Given the description of an element on the screen output the (x, y) to click on. 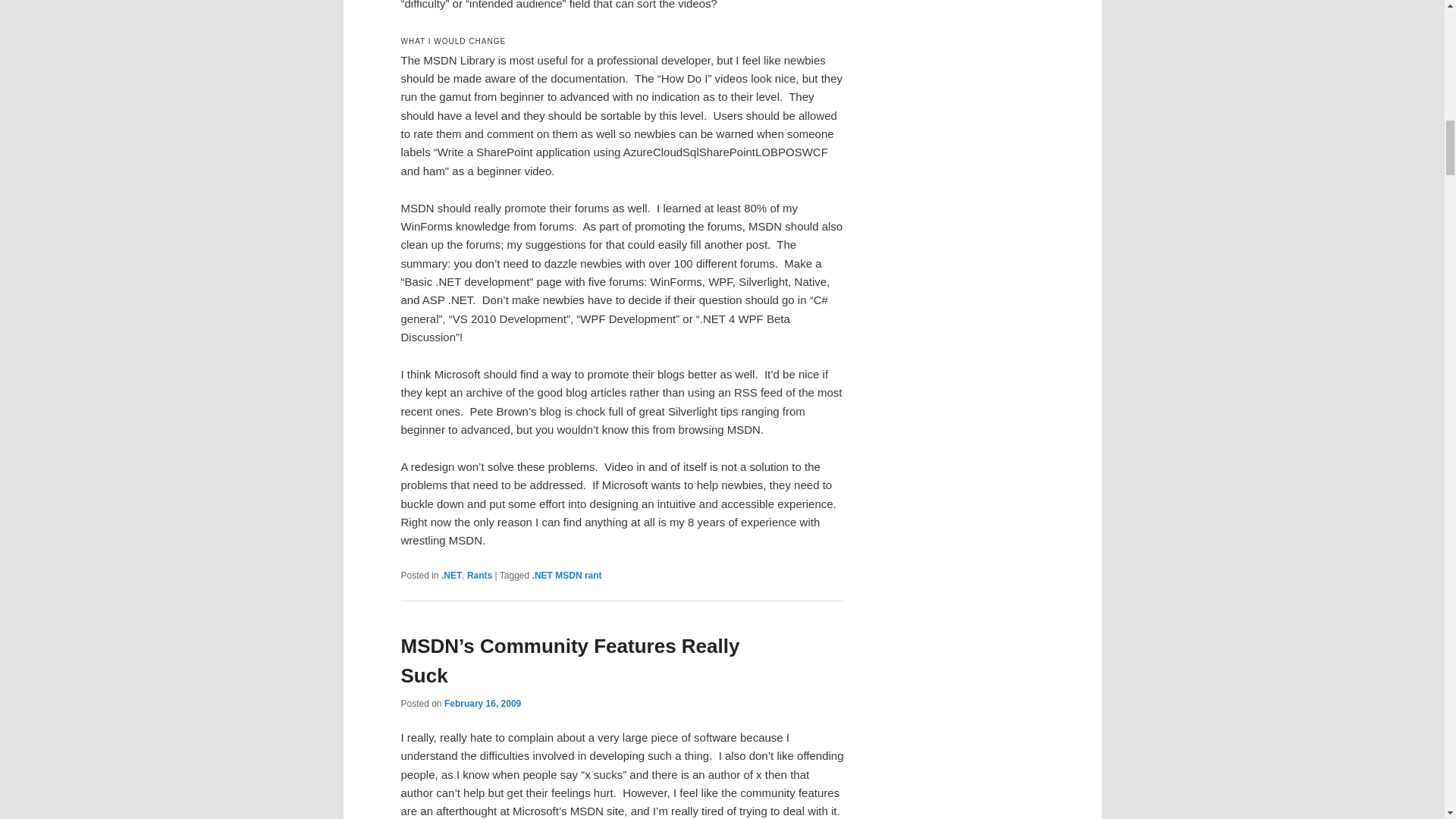
.NET (451, 575)
February 16, 2009 (482, 703)
3:43 pm (482, 703)
Rants (479, 575)
.NET MSDN rant (567, 575)
